Given the description of an element on the screen output the (x, y) to click on. 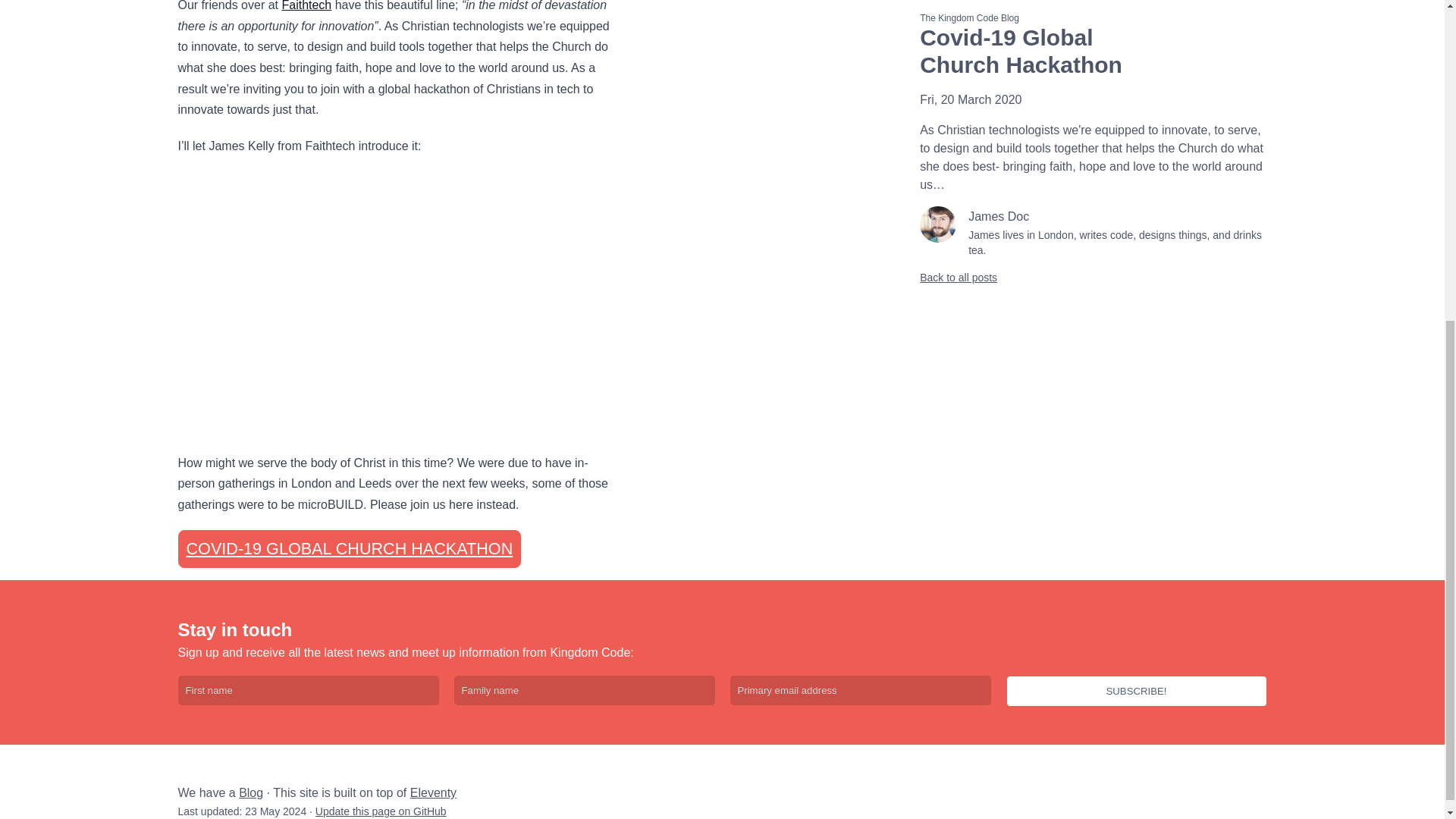
Subscribe! (1136, 691)
Eleventy (433, 792)
Faithtech (306, 5)
Update this page on GitHub (380, 811)
Subscribe! (1136, 691)
Blog (250, 792)
COVID-19 GLOBAL CHURCH HACKATHON (349, 548)
